Given the description of an element on the screen output the (x, y) to click on. 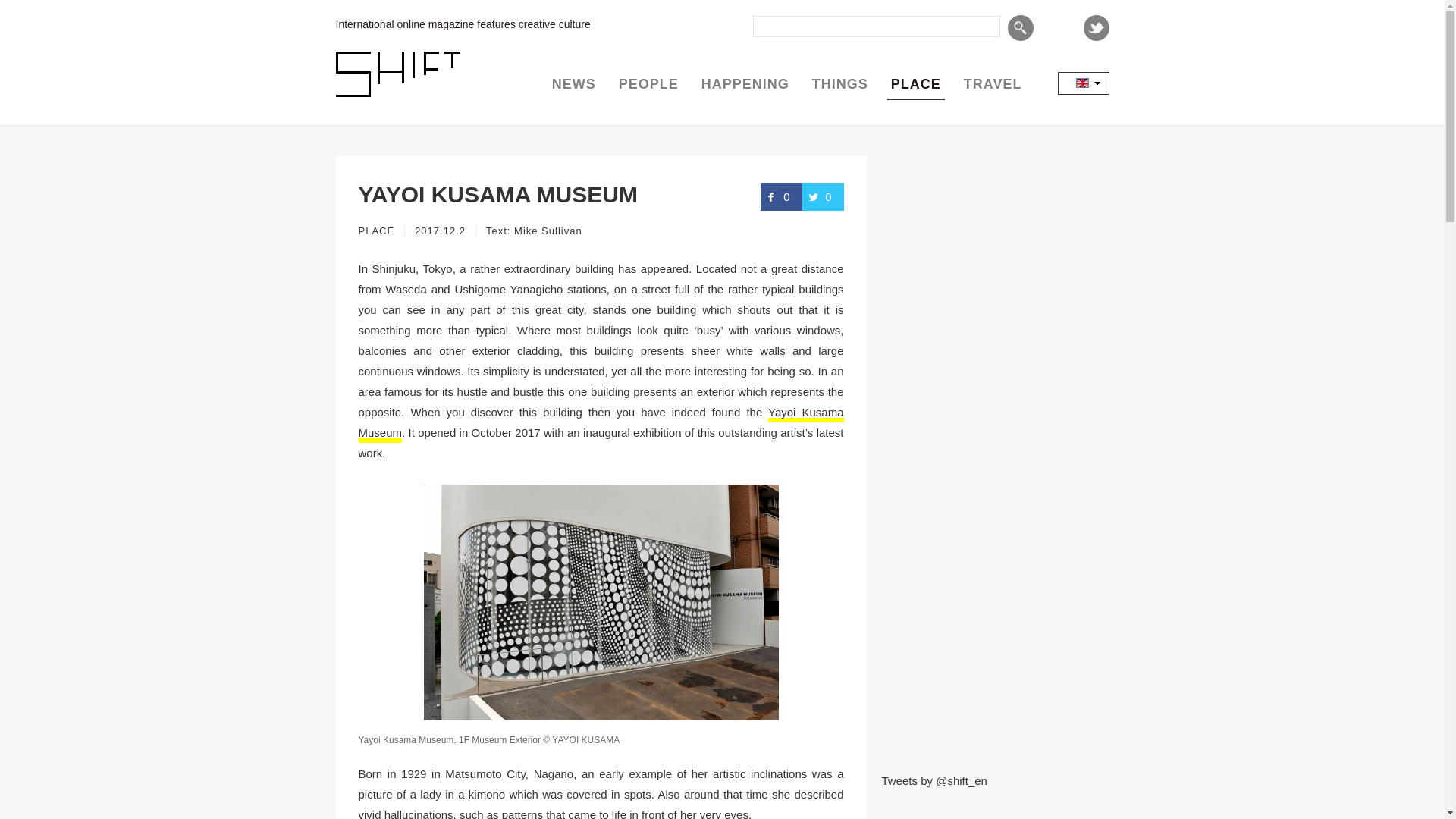
PEOPLE (648, 84)
HAPPENING (745, 84)
THINGS (839, 84)
3rd party ad content (994, 455)
Yayoi Kusama Museum (600, 423)
NEWS (573, 84)
0 (781, 196)
PLACE (376, 230)
TRAVEL (992, 84)
PLACE (915, 84)
3rd party ad content (994, 250)
Advertisement (994, 660)
Mike Sullivan (547, 230)
0 (823, 196)
